Given the description of an element on the screen output the (x, y) to click on. 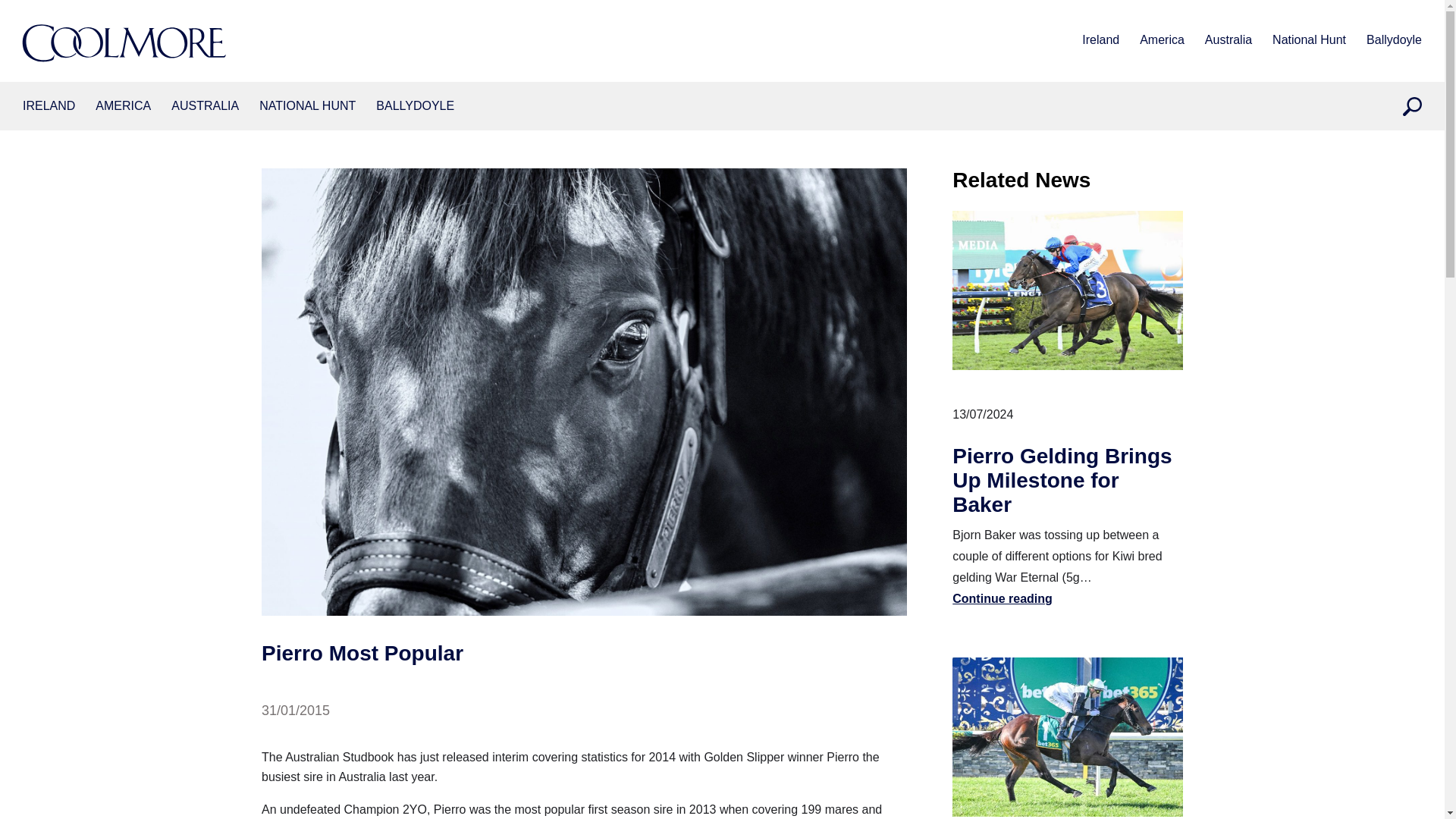
Ballydoyle (414, 106)
Australia (1228, 40)
icon-magCreated with Sketch. (1412, 106)
IRELAND (49, 106)
Australia (204, 106)
NATIONAL HUNT (307, 106)
AMERICA (123, 106)
Ireland (49, 106)
AUSTRALIA (204, 106)
BALLYDOYLE (414, 106)
